Given the description of an element on the screen output the (x, y) to click on. 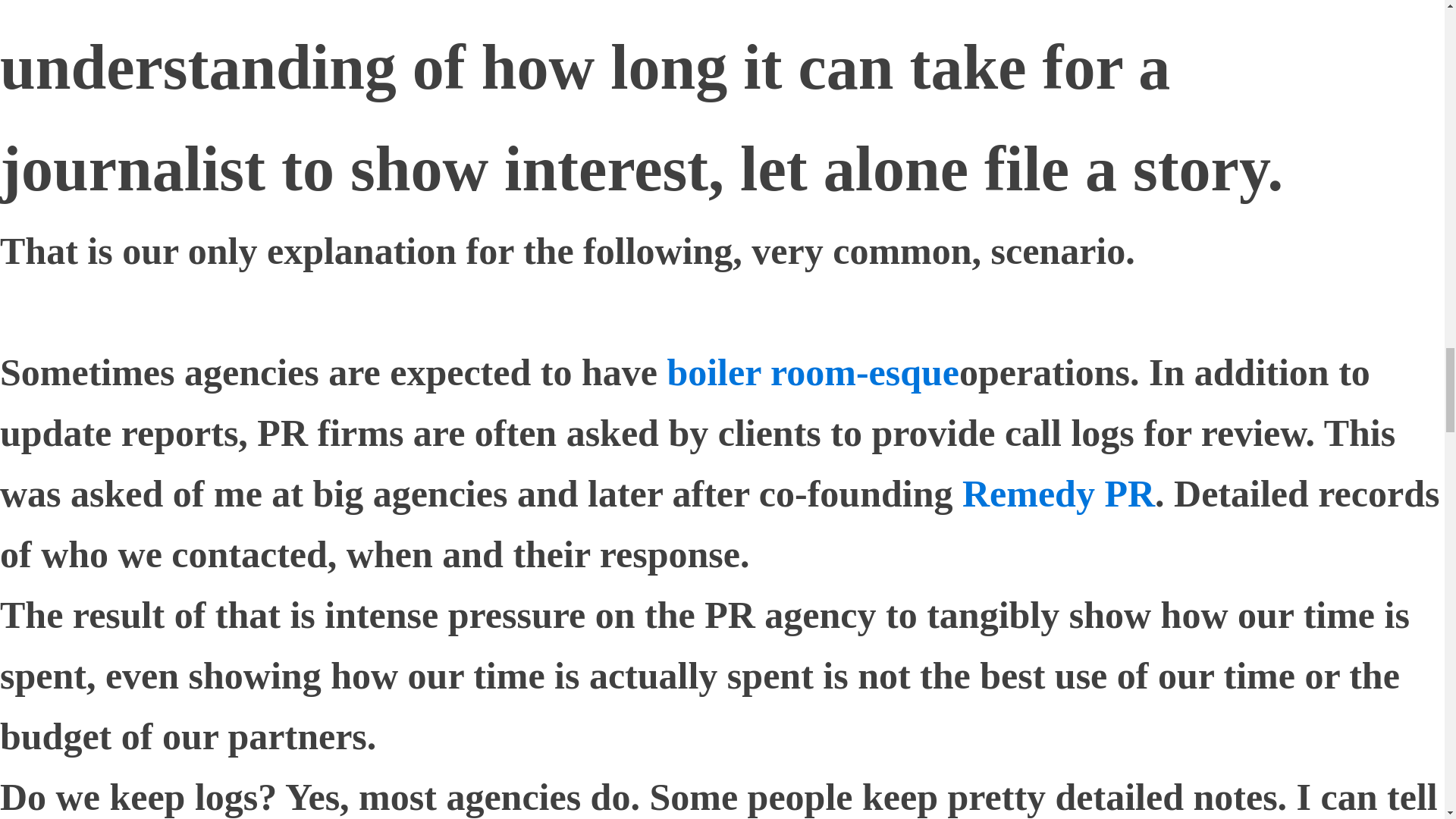
Remedy PR (1058, 493)
boiler room-esque (812, 372)
